Given the description of an element on the screen output the (x, y) to click on. 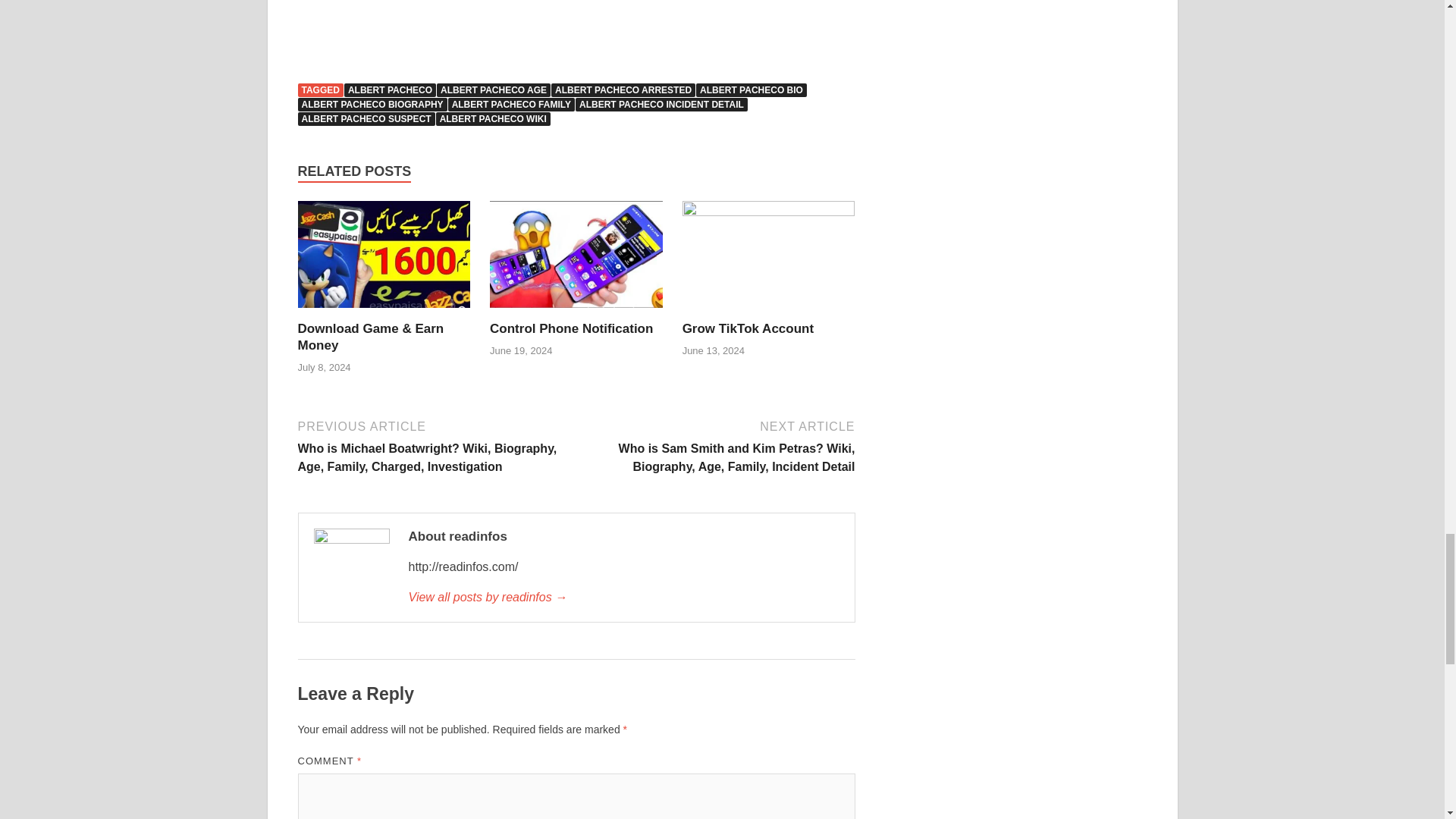
ALBERT PACHECO FAMILY (511, 104)
ALBERT PACHECO WIKI (492, 119)
Grow TikTok Account (747, 328)
ALBERT PACHECO SUSPECT (365, 119)
Grow TikTok Account (769, 259)
ALBERT PACHECO BIOGRAPHY (371, 104)
ALBERT PACHECO INCIDENT DETAIL (661, 104)
ALBERT PACHECO ARRESTED (623, 90)
readinfos (622, 597)
Control Phone Notification (575, 259)
Control Phone Notification (570, 328)
ALBERT PACHECO BIO (750, 90)
Control Phone Notification (570, 328)
ALBERT PACHECO AGE (493, 90)
